Given the description of an element on the screen output the (x, y) to click on. 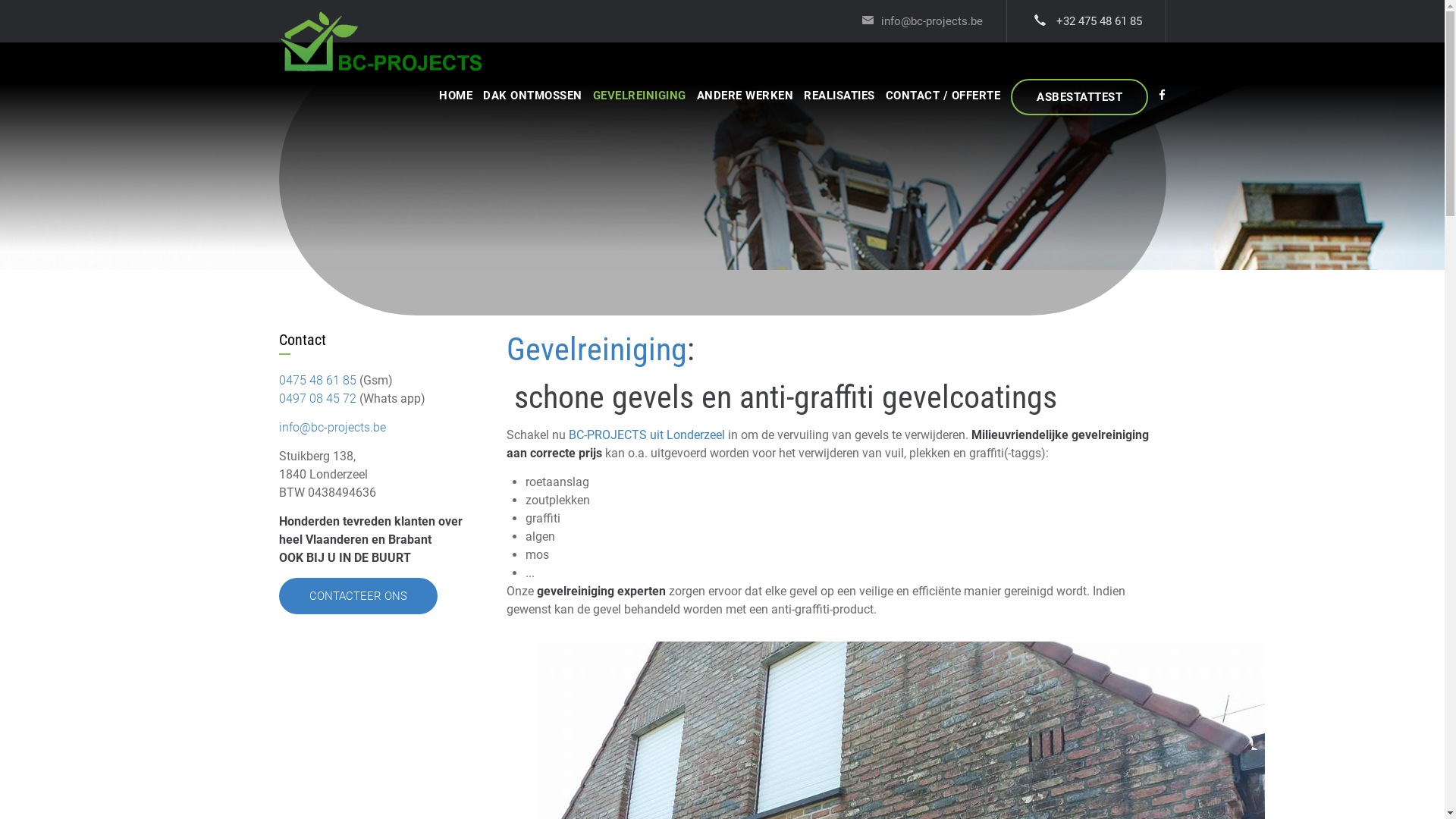
HOME Element type: text (455, 96)
GEVELREINIGING Element type: text (639, 96)
ANDERE WERKEN Element type: text (744, 96)
0475 48 61 85 Element type: text (317, 380)
BC-PROJECTS uit Londerzeel Element type: text (646, 434)
+32 475 48 61 85 Element type: text (1088, 21)
0497 08 45 72 Element type: text (317, 398)
CONTACTEER ONS Element type: text (358, 595)
REALISATIES Element type: text (839, 96)
info@bc-projects.be Element type: text (921, 21)
ASBESTATTEST Element type: text (1079, 96)
Gevelreiniging Element type: text (596, 348)
CONTACT / OFFERTE Element type: text (943, 96)
info@bc-projects.be Element type: text (332, 427)
DAK ONTMOSSEN Element type: text (532, 96)
